Given the description of an element on the screen output the (x, y) to click on. 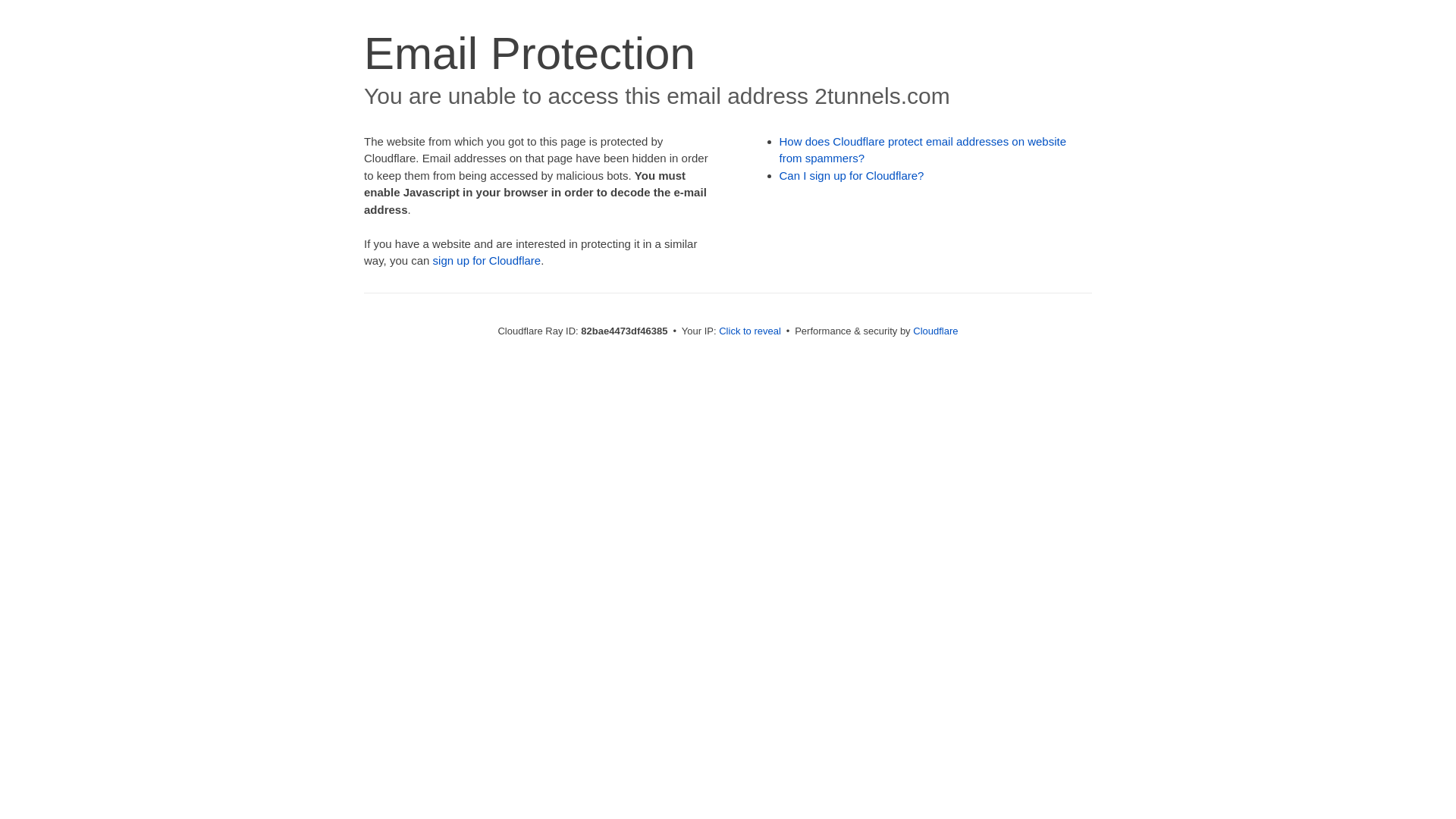
Click to reveal Element type: text (749, 330)
Can I sign up for Cloudflare? Element type: text (851, 175)
sign up for Cloudflare Element type: text (487, 260)
Cloudflare Element type: text (935, 330)
